Given the description of an element on the screen output the (x, y) to click on. 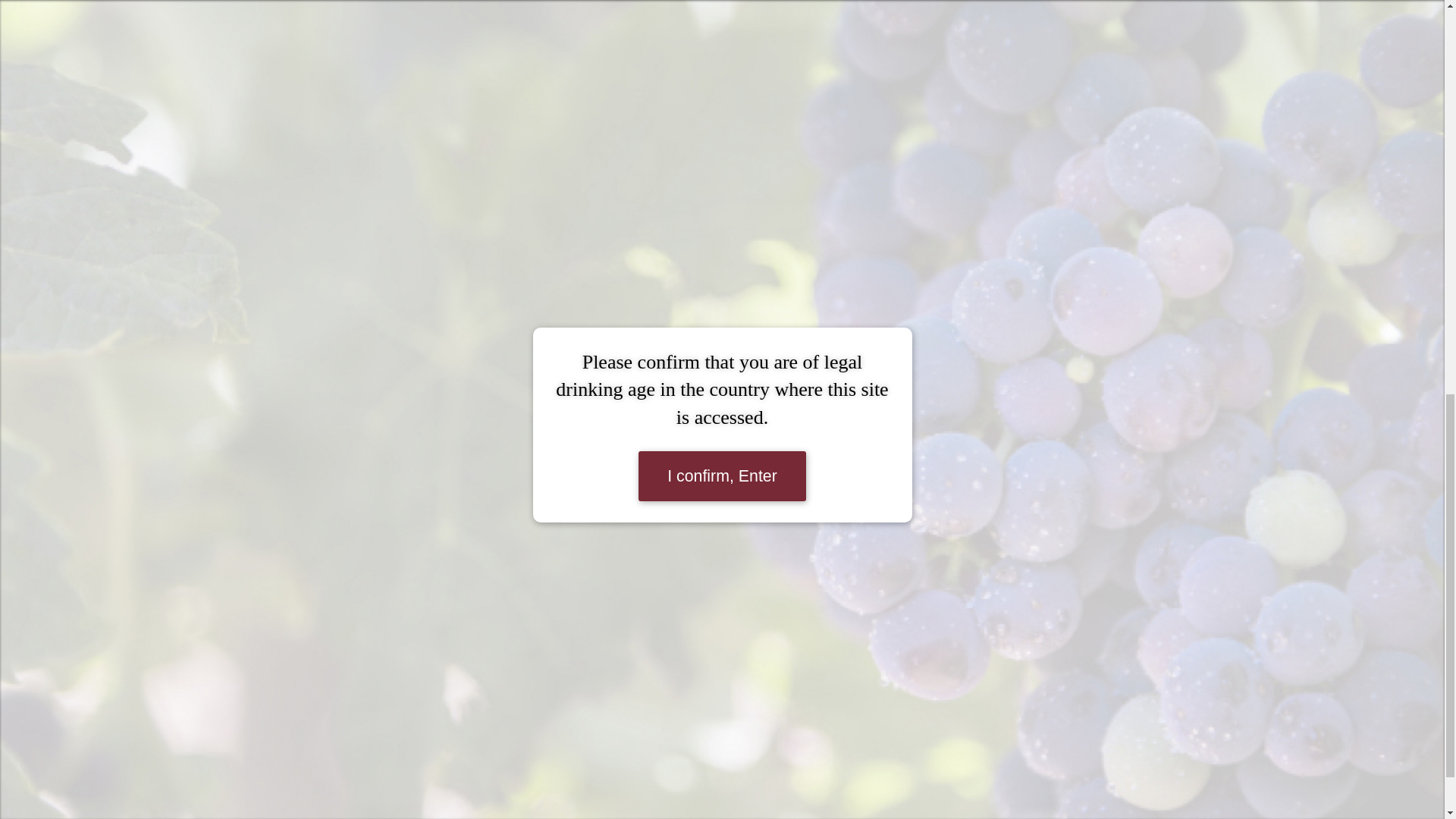
Awards (614, 811)
About us (614, 751)
Top grapes (614, 771)
About us (614, 751)
Awards (614, 811)
Distributors (614, 791)
Portfolio (614, 730)
Top grapes (614, 771)
Distributors (614, 791)
Portfolio (614, 730)
